Given the description of an element on the screen output the (x, y) to click on. 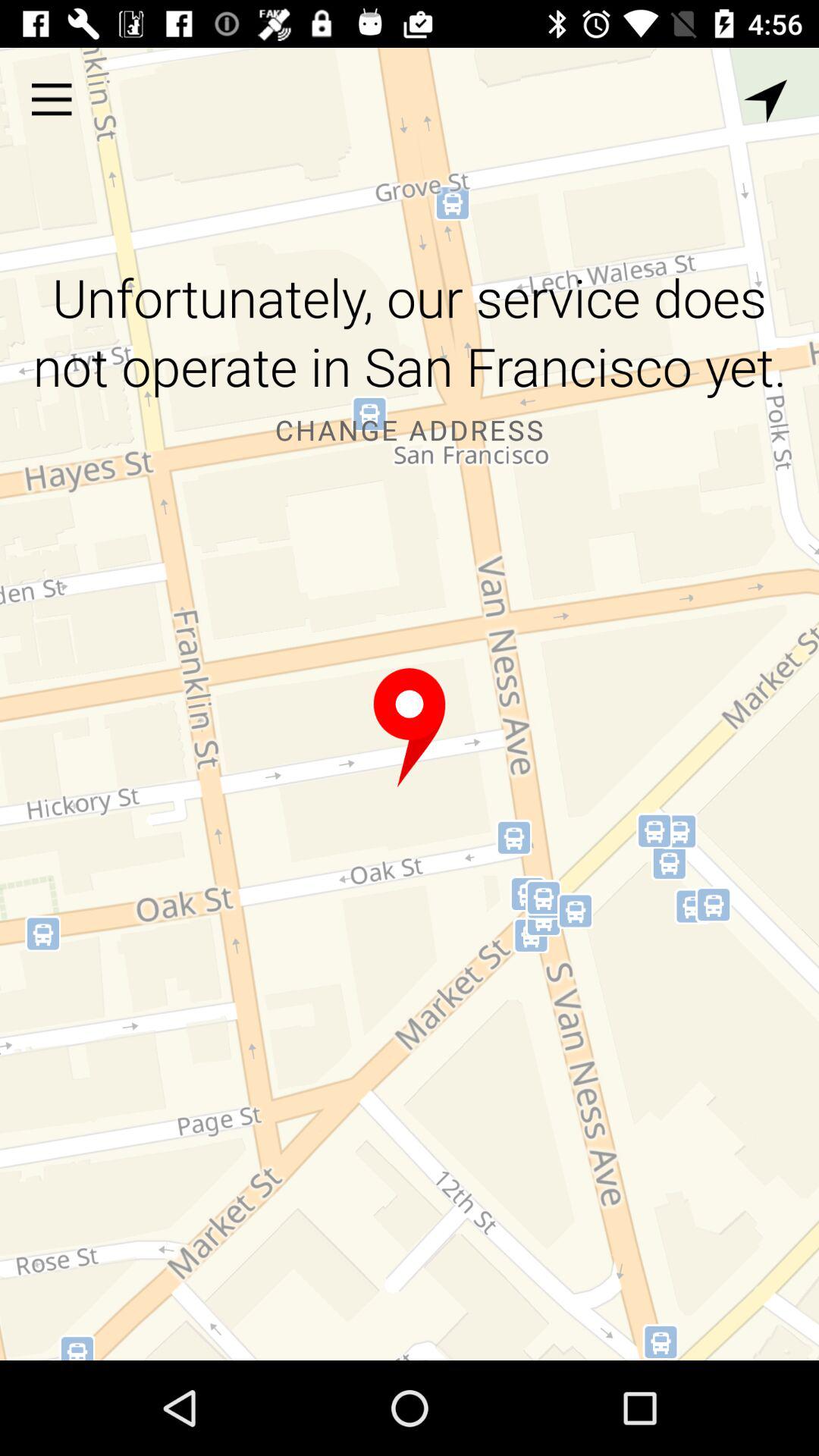
open pin information (409, 727)
